Given the description of an element on the screen output the (x, y) to click on. 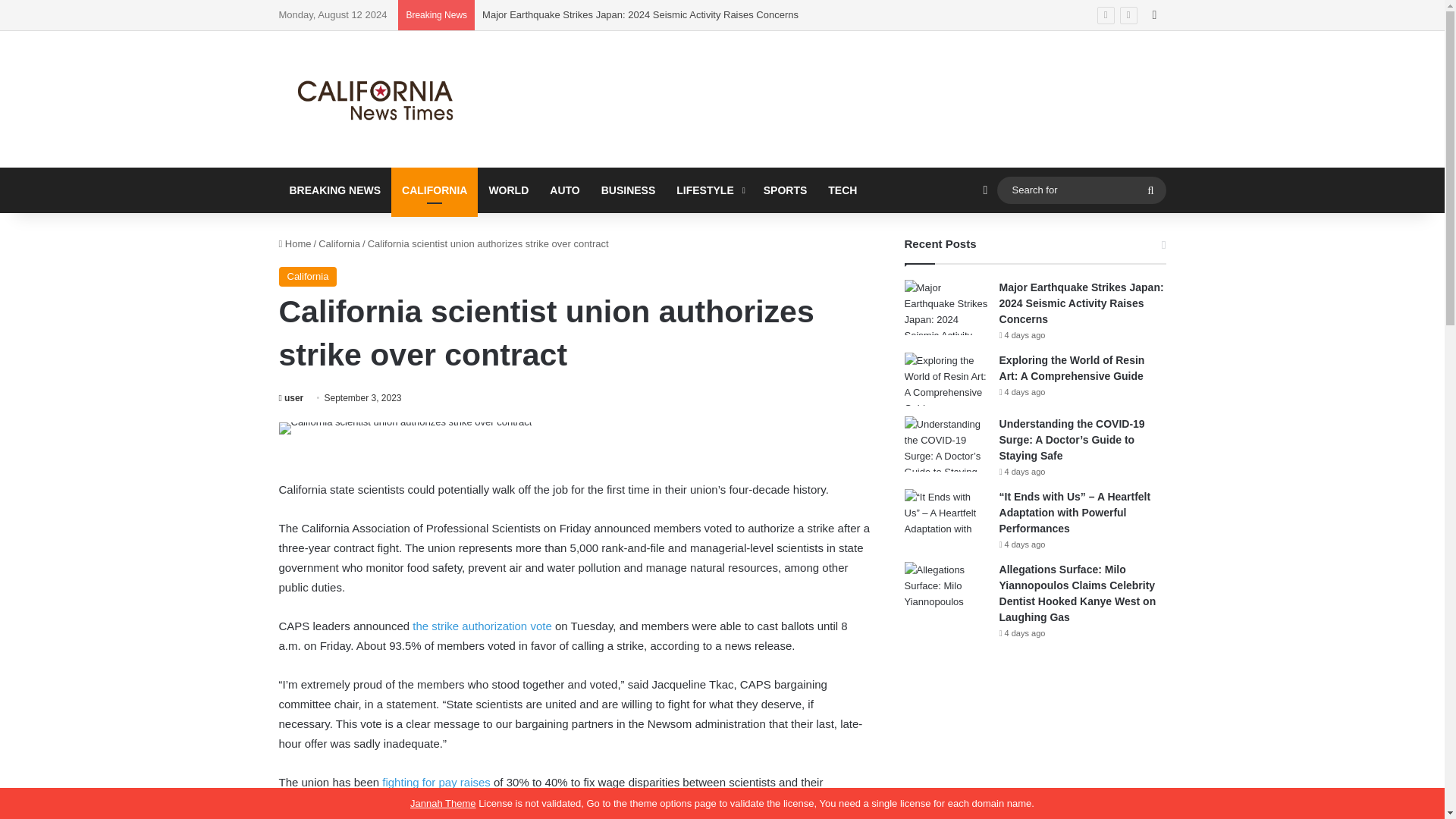
WORLD (507, 189)
fighting for pay raises (435, 781)
California (308, 276)
Jannah Theme (443, 803)
the strike authorization vote (481, 625)
Search for (1080, 189)
TECH (841, 189)
BREAKING NEWS (335, 189)
SPORTS (785, 189)
Home (295, 243)
